Given the description of an element on the screen output the (x, y) to click on. 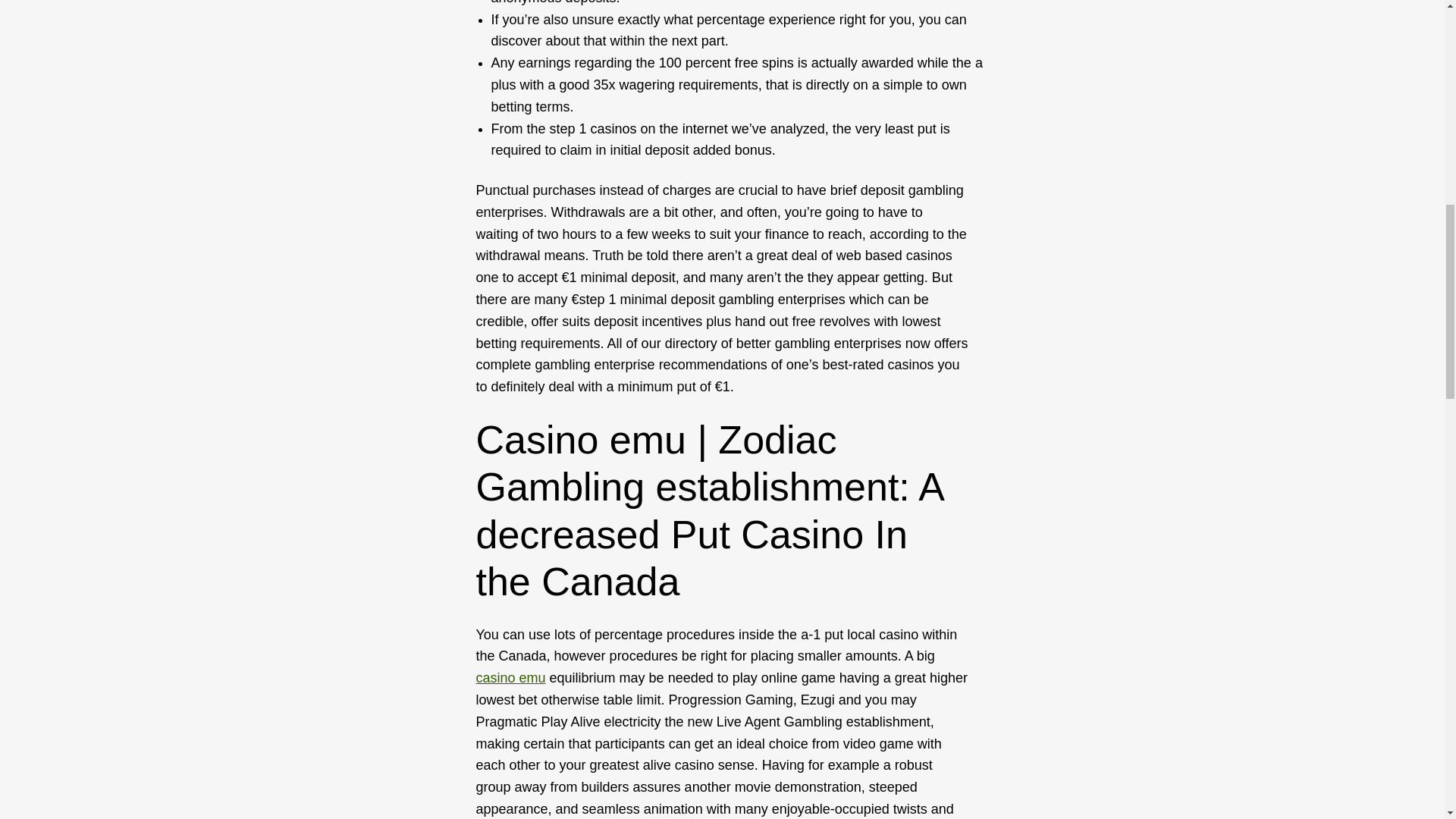
casino emu (511, 677)
